Given the description of an element on the screen output the (x, y) to click on. 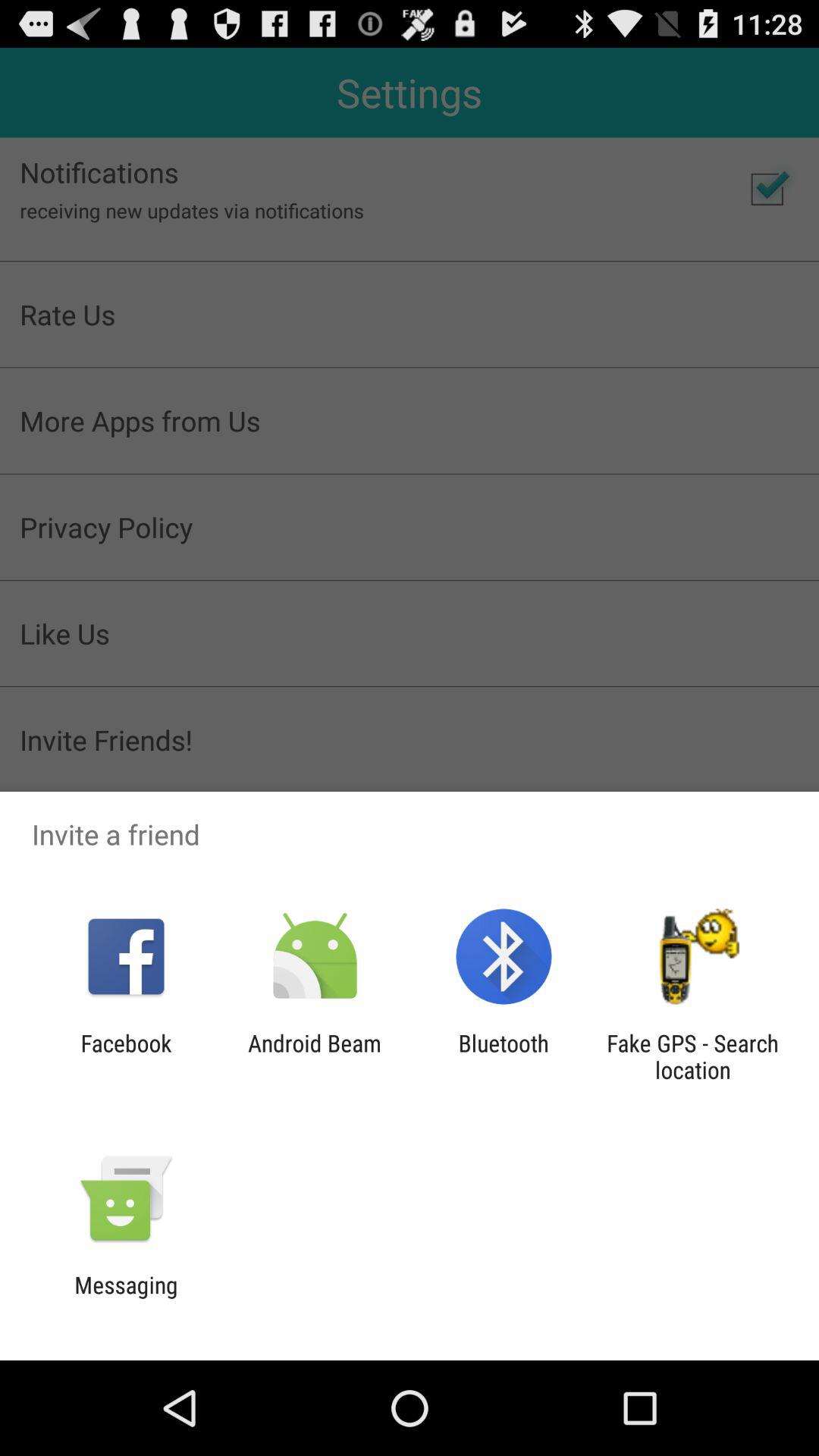
flip to android beam icon (314, 1056)
